Given the description of an element on the screen output the (x, y) to click on. 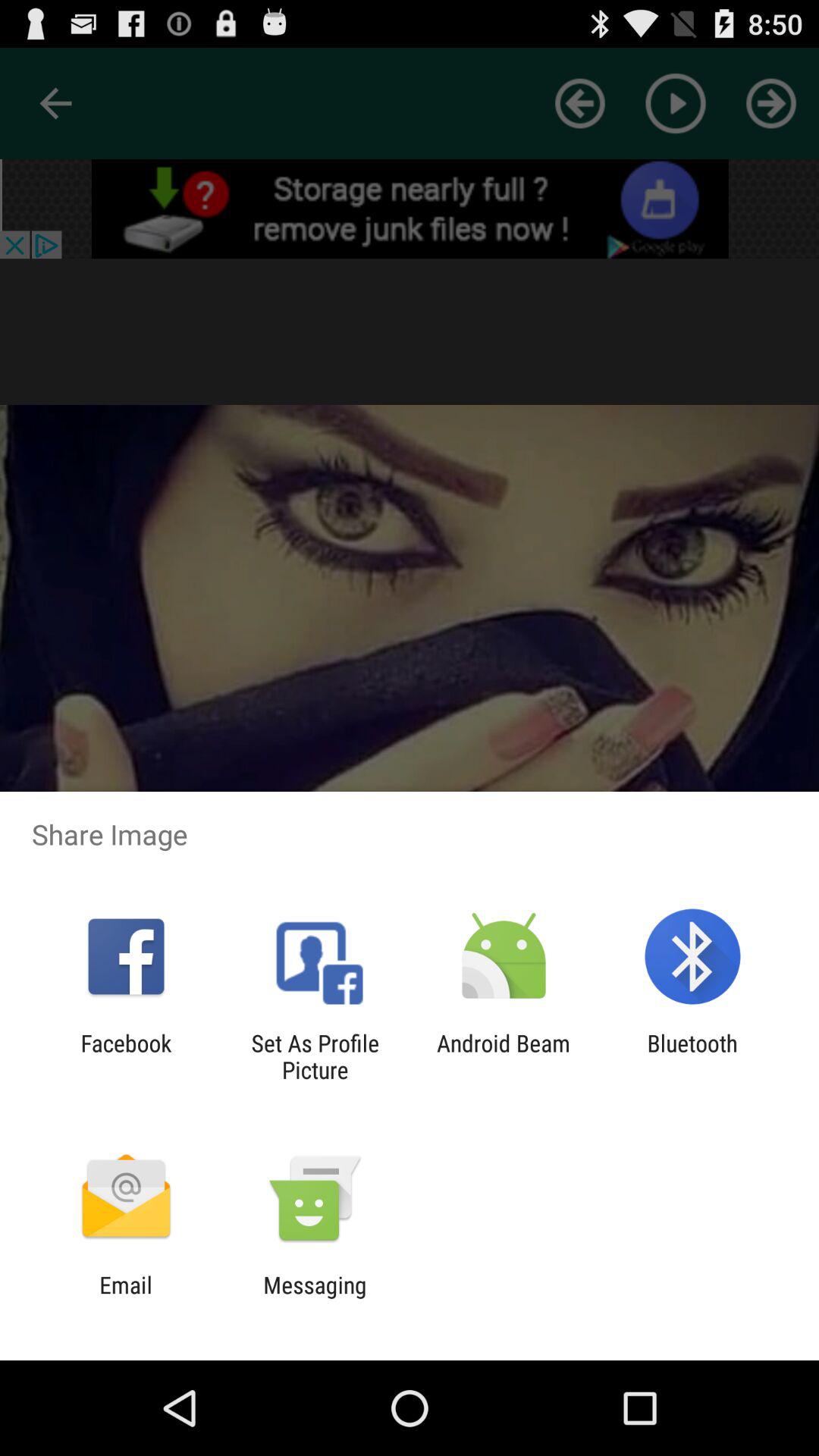
press item next to the facebook (314, 1056)
